Given the description of an element on the screen output the (x, y) to click on. 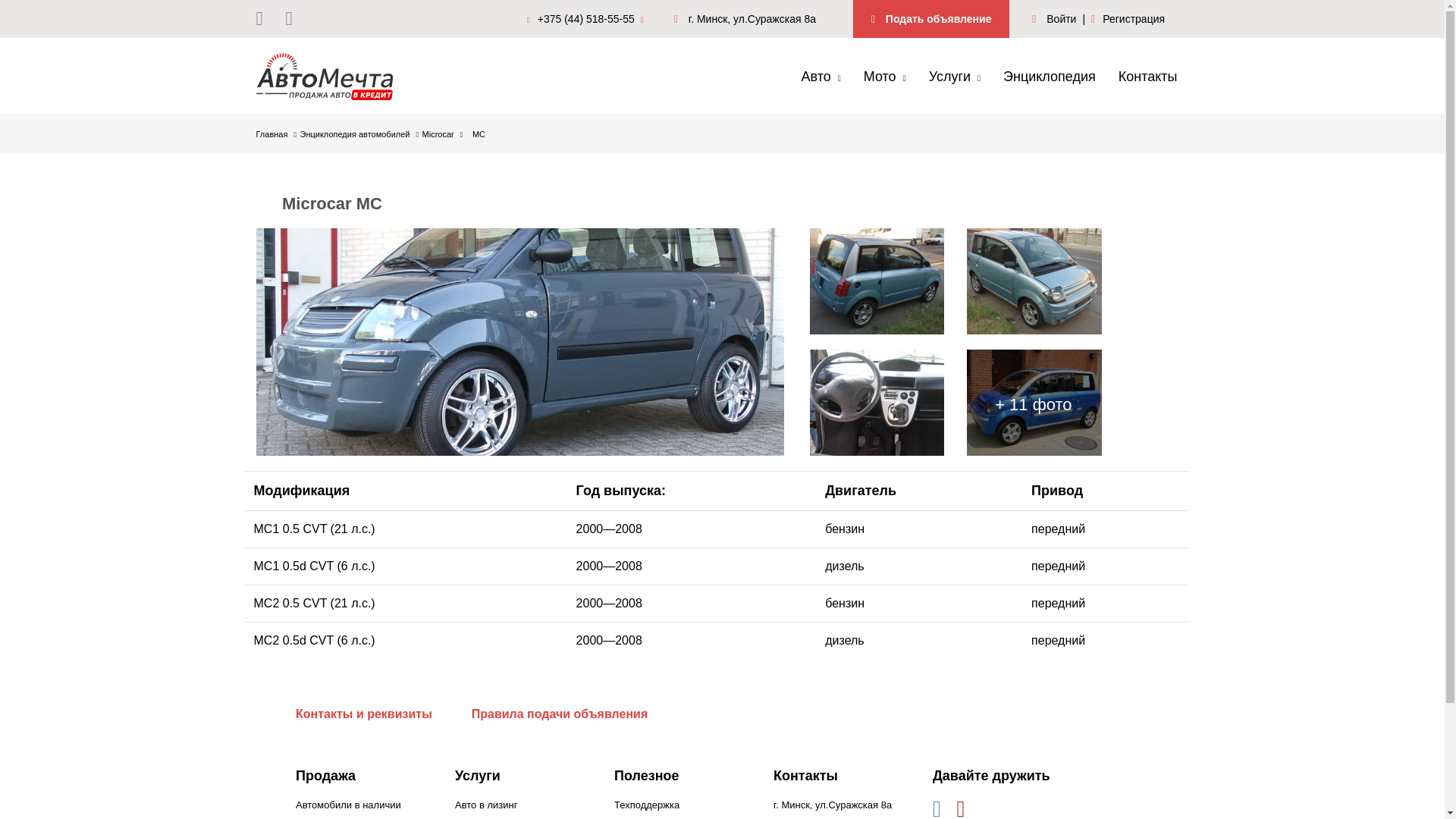
Microcar Element type: text (442, 133)
+375 (44) 518-55-55 Element type: text (589, 18)
